Given the description of an element on the screen output the (x, y) to click on. 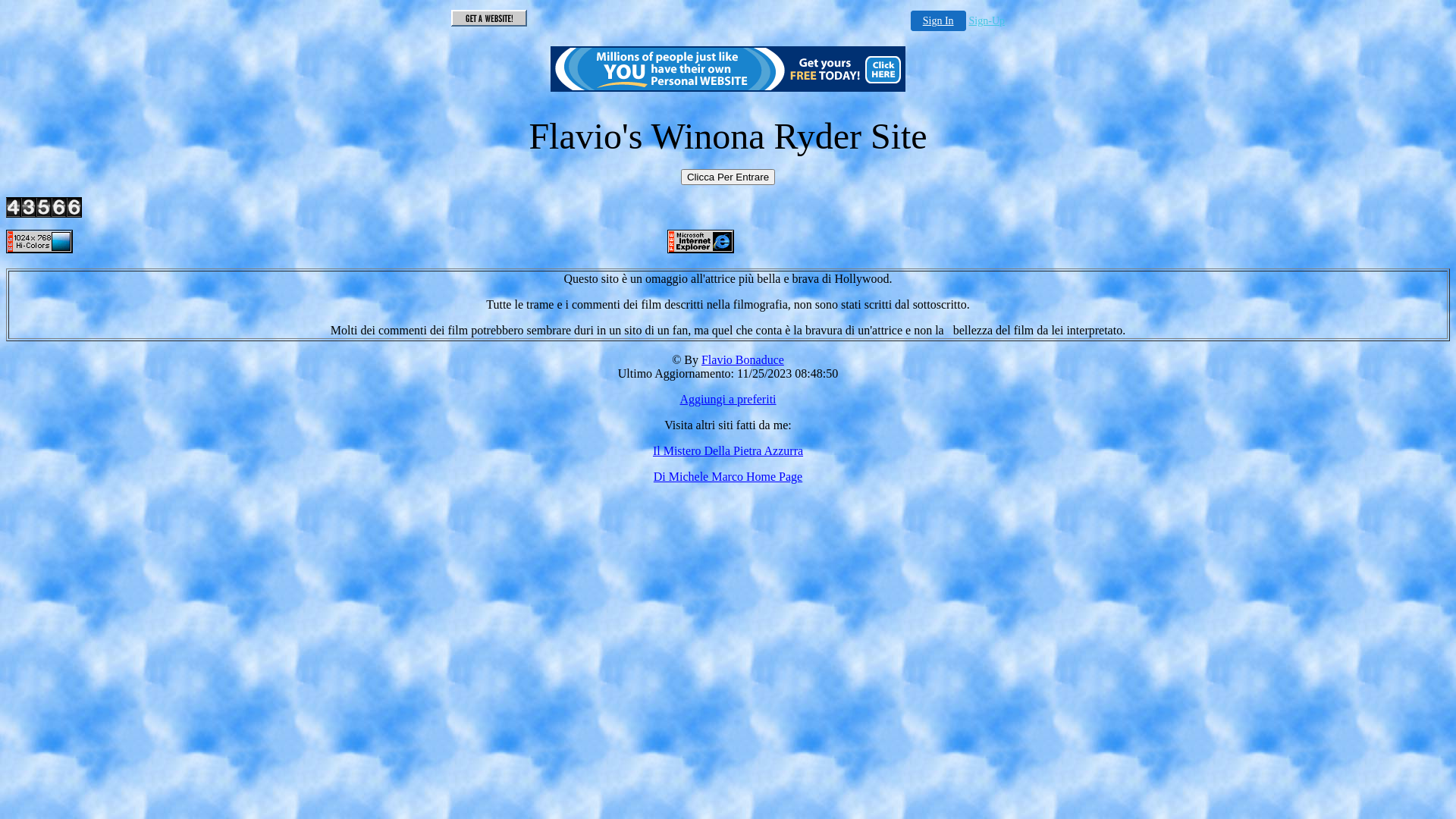
Sign-Up Element type: text (986, 20)
Aggiungi a preferiti Element type: text (727, 398)
Clicca Per Entrare Element type: text (727, 177)
Sign In Element type: text (938, 20)
Il Mistero Della Pietra Azzurra Element type: text (727, 450)
Di Michele Marco Home Page Element type: text (727, 476)
Flavio Bonaduce Element type: text (742, 359)
